Given the description of an element on the screen output the (x, y) to click on. 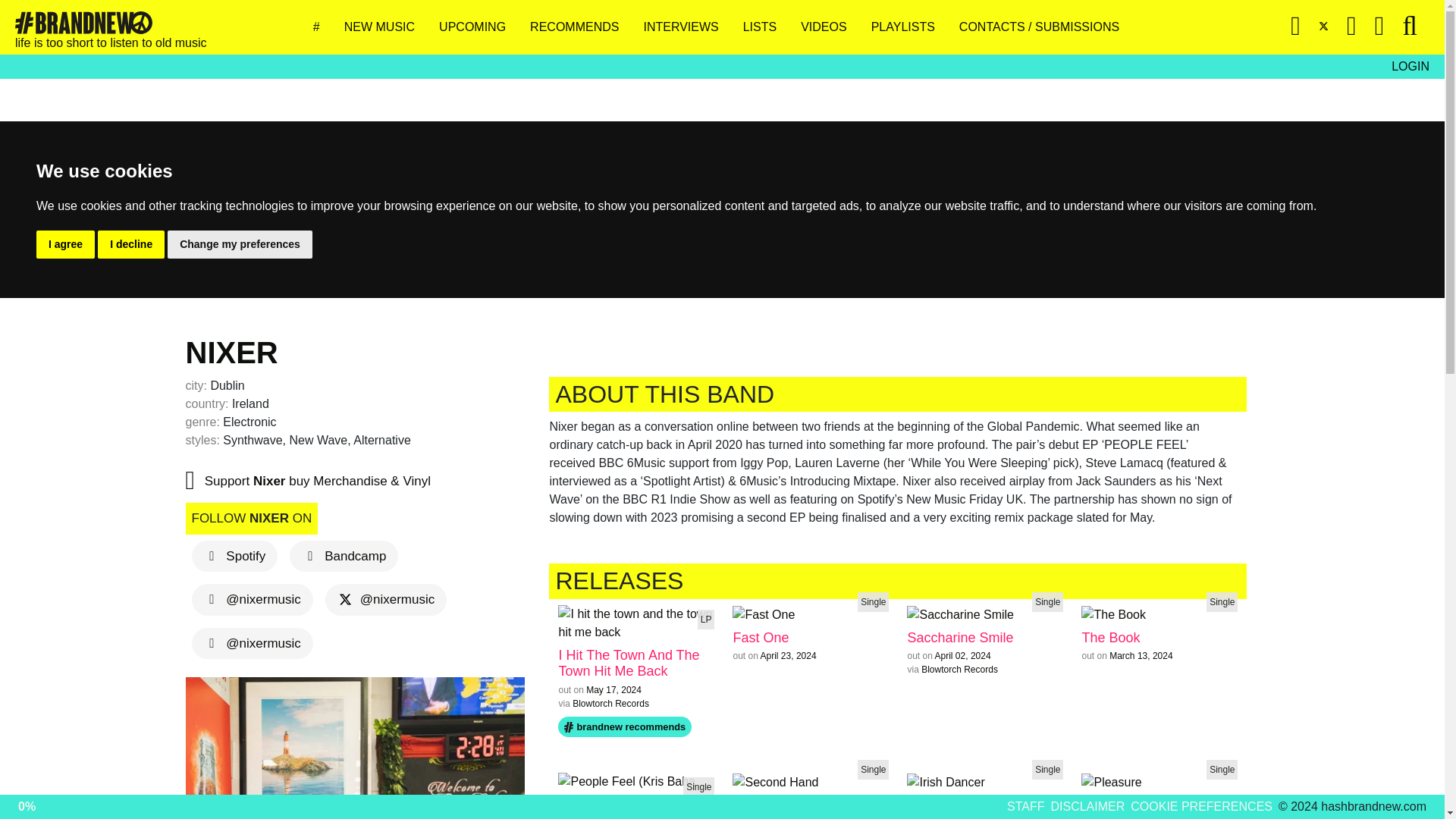
LOGIN (1410, 66)
NEW MUSIC (384, 26)
Change my preferences (240, 244)
NEW MUSIC (384, 26)
Bandcamp (343, 555)
RECOMMENDS (579, 26)
life is too short to listen to old music (110, 26)
INTERVIEWS (686, 26)
Recommends (579, 26)
Upcoming (478, 26)
UPCOMING (478, 26)
Lists (765, 26)
PLAYLISTS (908, 26)
NIXER (231, 352)
I agree (65, 244)
